Given the description of an element on the screen output the (x, y) to click on. 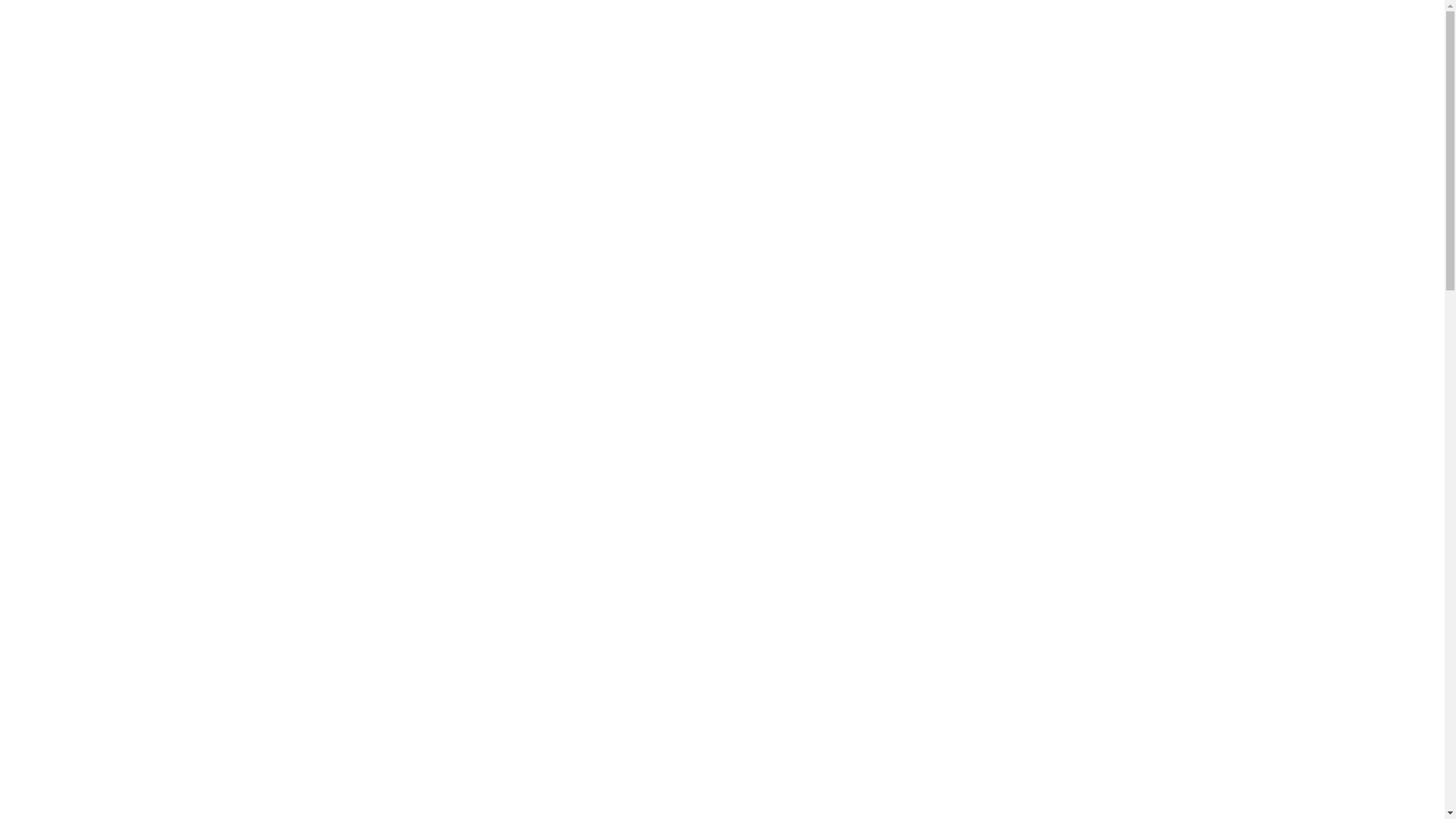
HOME Element type: text (835, 26)
+61 8 8363 9266 Element type: text (68, 91)
MILLBOARD Element type: text (907, 26)
PORCELAIN PAVERS & POOL COPING Element type: text (1072, 26)
Contact us for our
Walling PDF brochure Element type: text (957, 663)
PRODUCTS Element type: text (1233, 26)
CONTACT Element type: text (1313, 26)
